Given the description of an element on the screen output the (x, y) to click on. 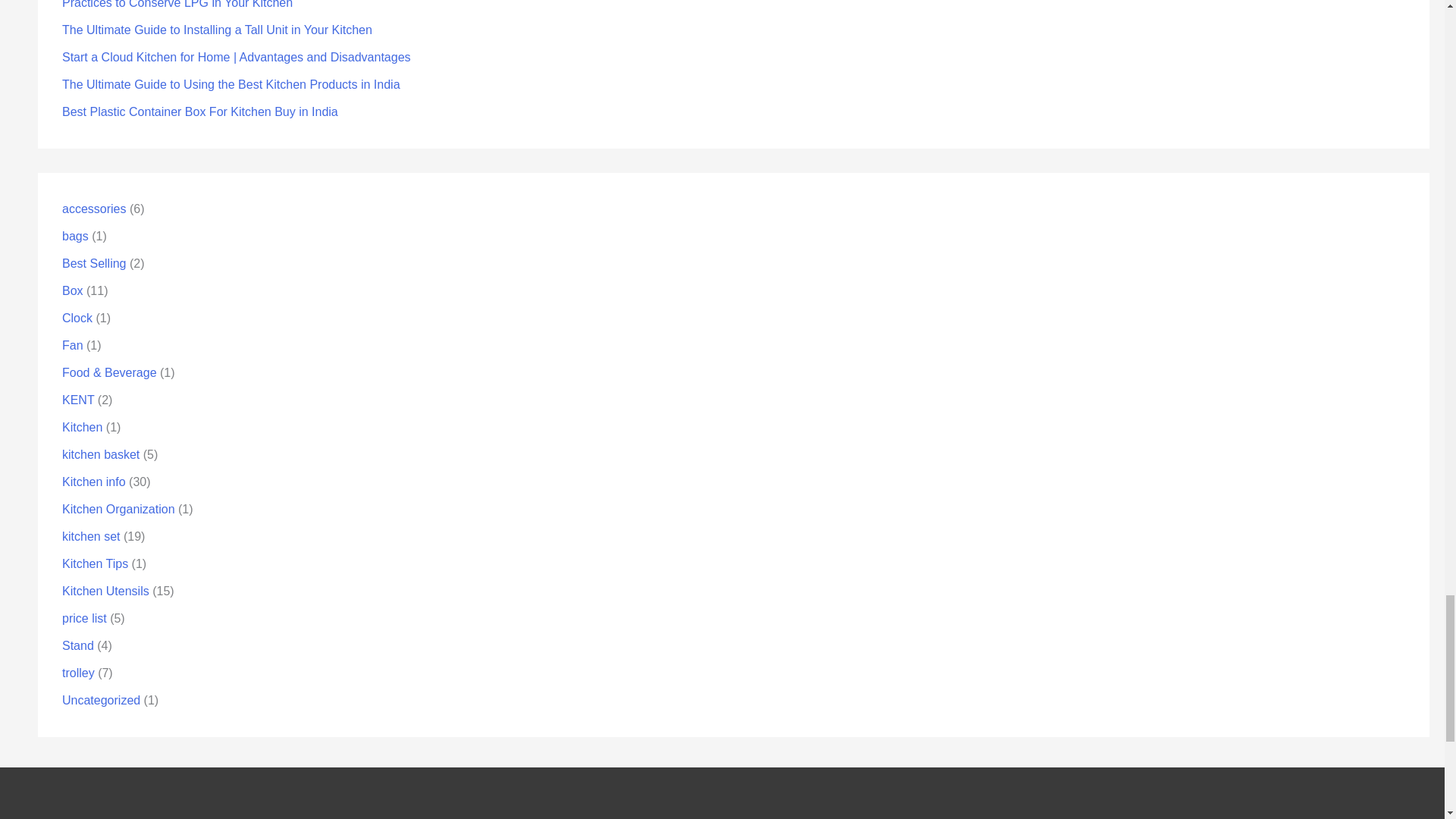
Practices to Conserve LPG in Your Kitchen (177, 4)
The Ultimate Guide to Installing a Tall Unit in Your Kitchen (217, 29)
